Given the description of an element on the screen output the (x, y) to click on. 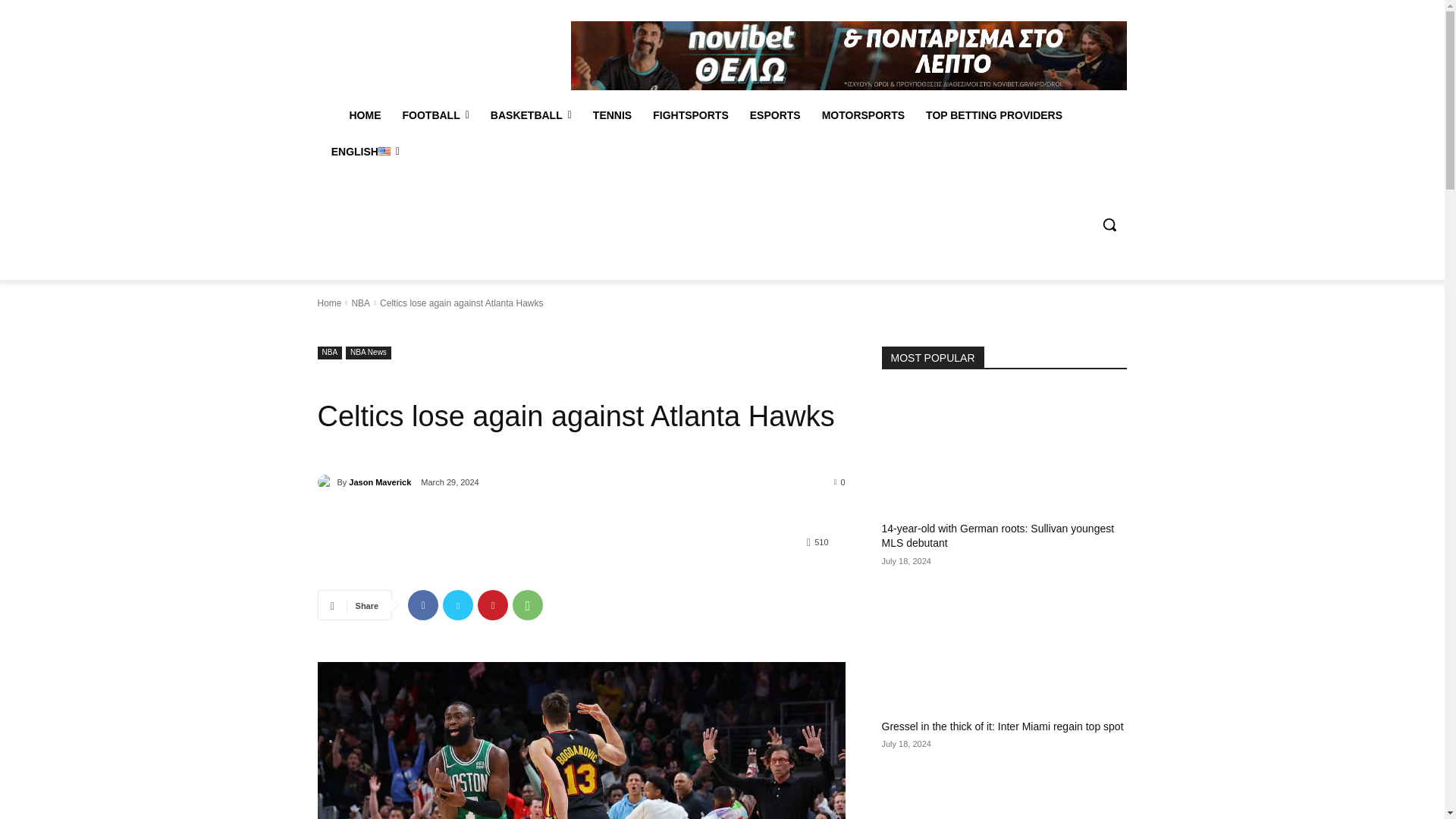
View all posts in NBA (359, 303)
Jason Maverick (326, 482)
Celtics lose again against Atlanta Hawks (580, 740)
Facebook (422, 604)
WhatsApp (527, 604)
Twitter (457, 604)
Pinterest (492, 604)
